Given the description of an element on the screen output the (x, y) to click on. 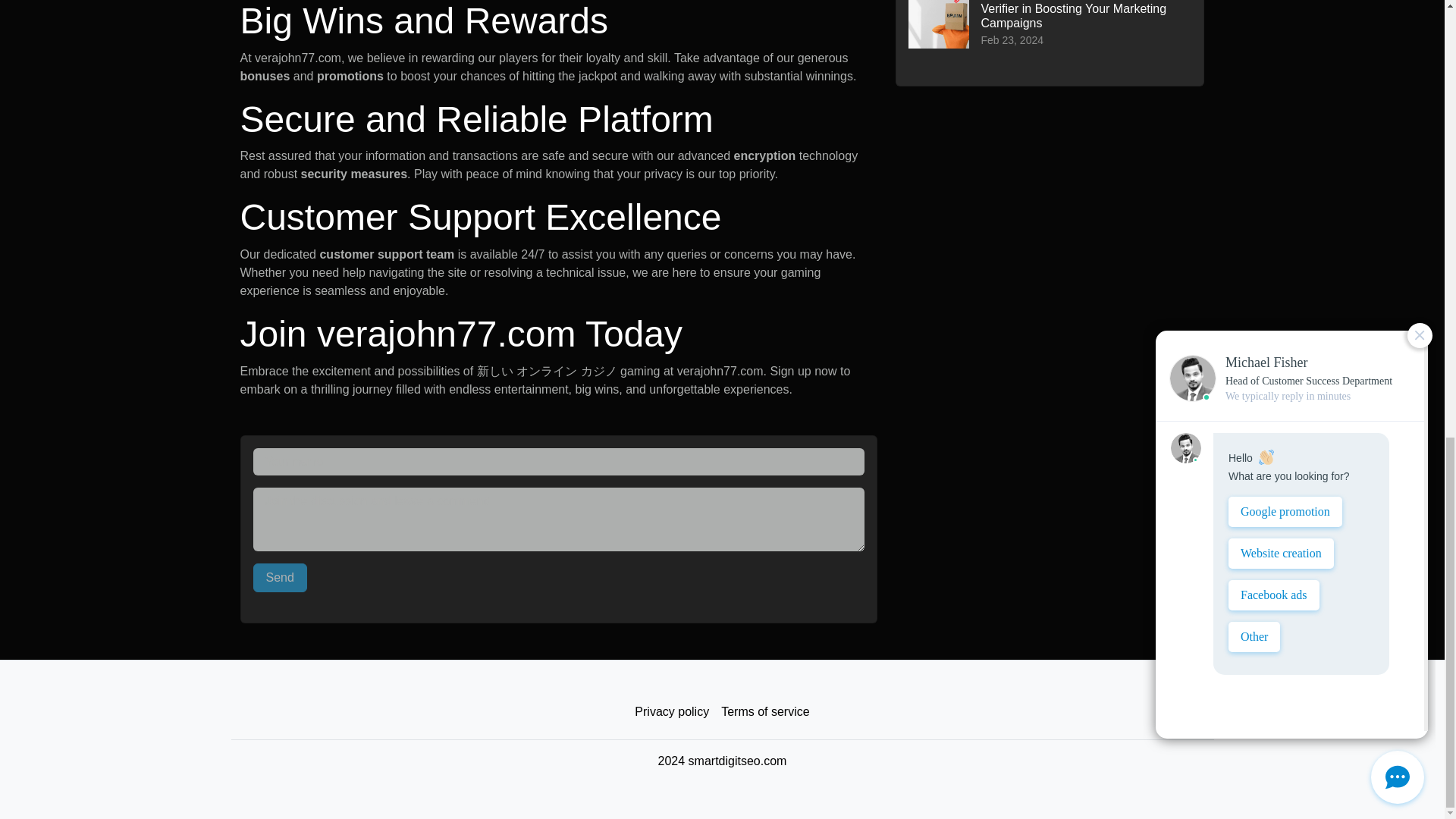
Terms of service (764, 711)
Send (280, 577)
Privacy policy (671, 711)
Send (280, 577)
